Given the description of an element on the screen output the (x, y) to click on. 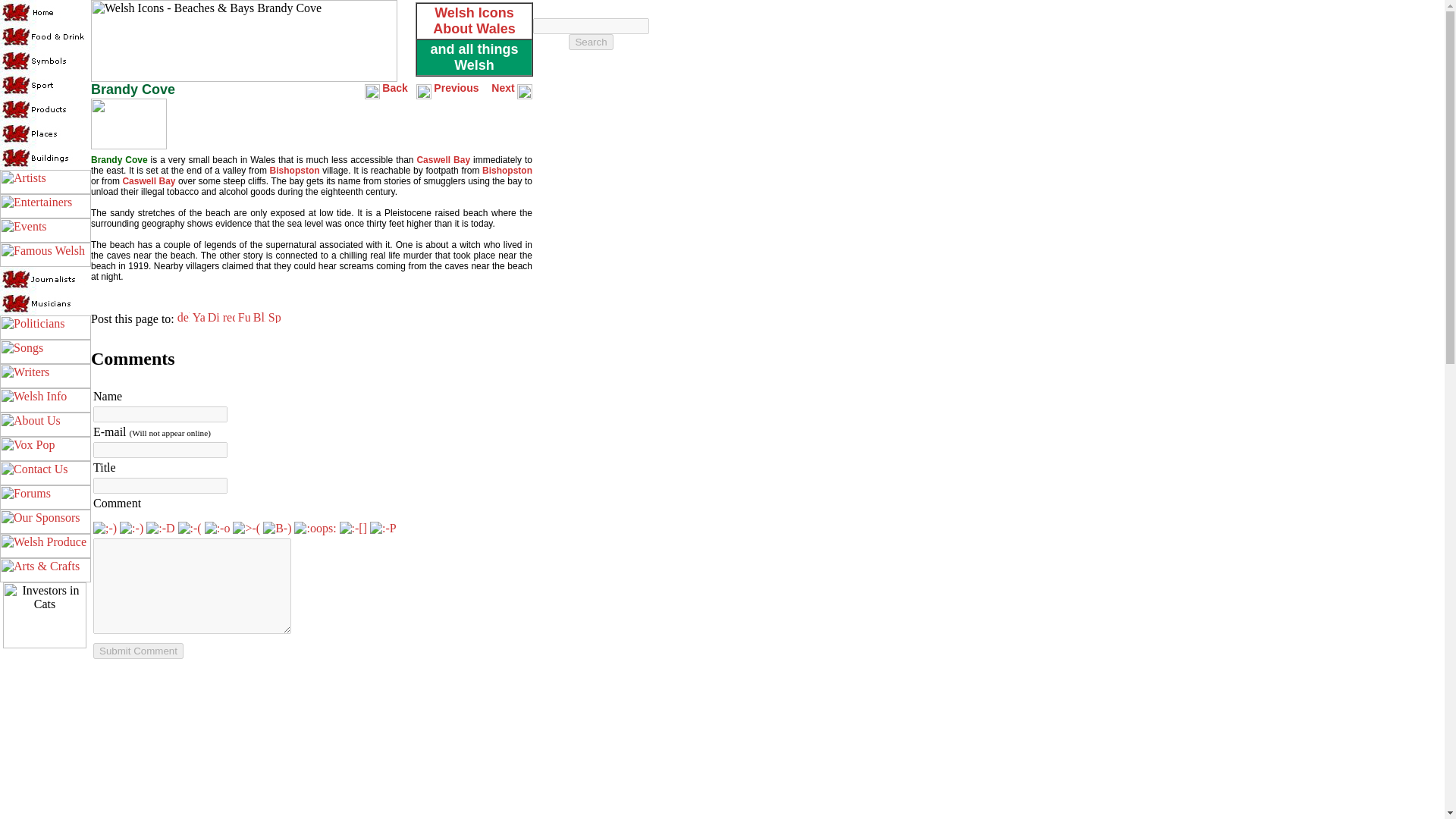
Contact Us (45, 473)
Events (45, 230)
Writers (45, 375)
Entertainers (45, 206)
Welsh Info (45, 400)
Back (394, 88)
Bishopston (294, 170)
Symbols (45, 60)
Places (45, 133)
Home (45, 12)
